Given the description of an element on the screen output the (x, y) to click on. 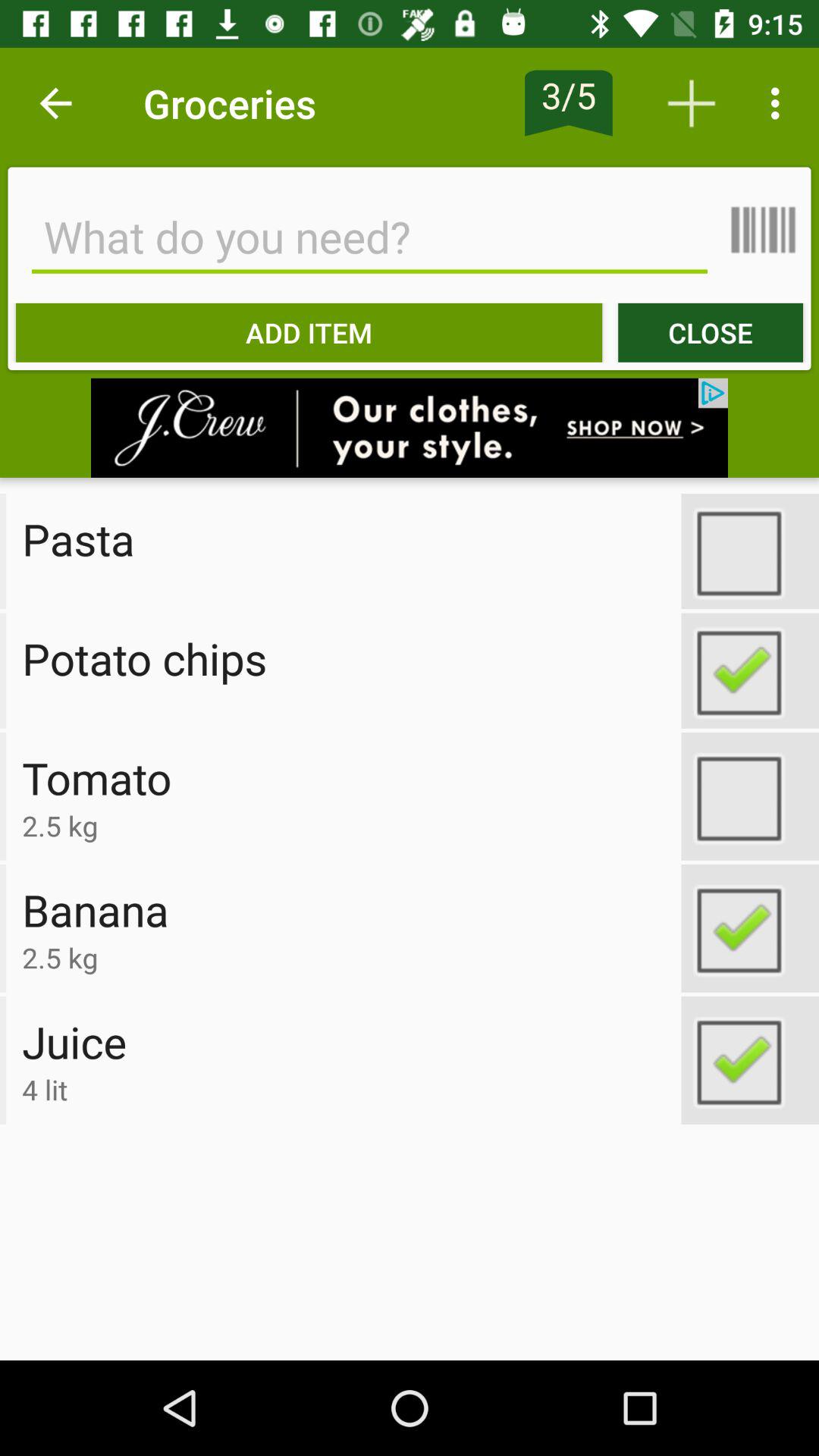
select option (750, 928)
